Given the description of an element on the screen output the (x, y) to click on. 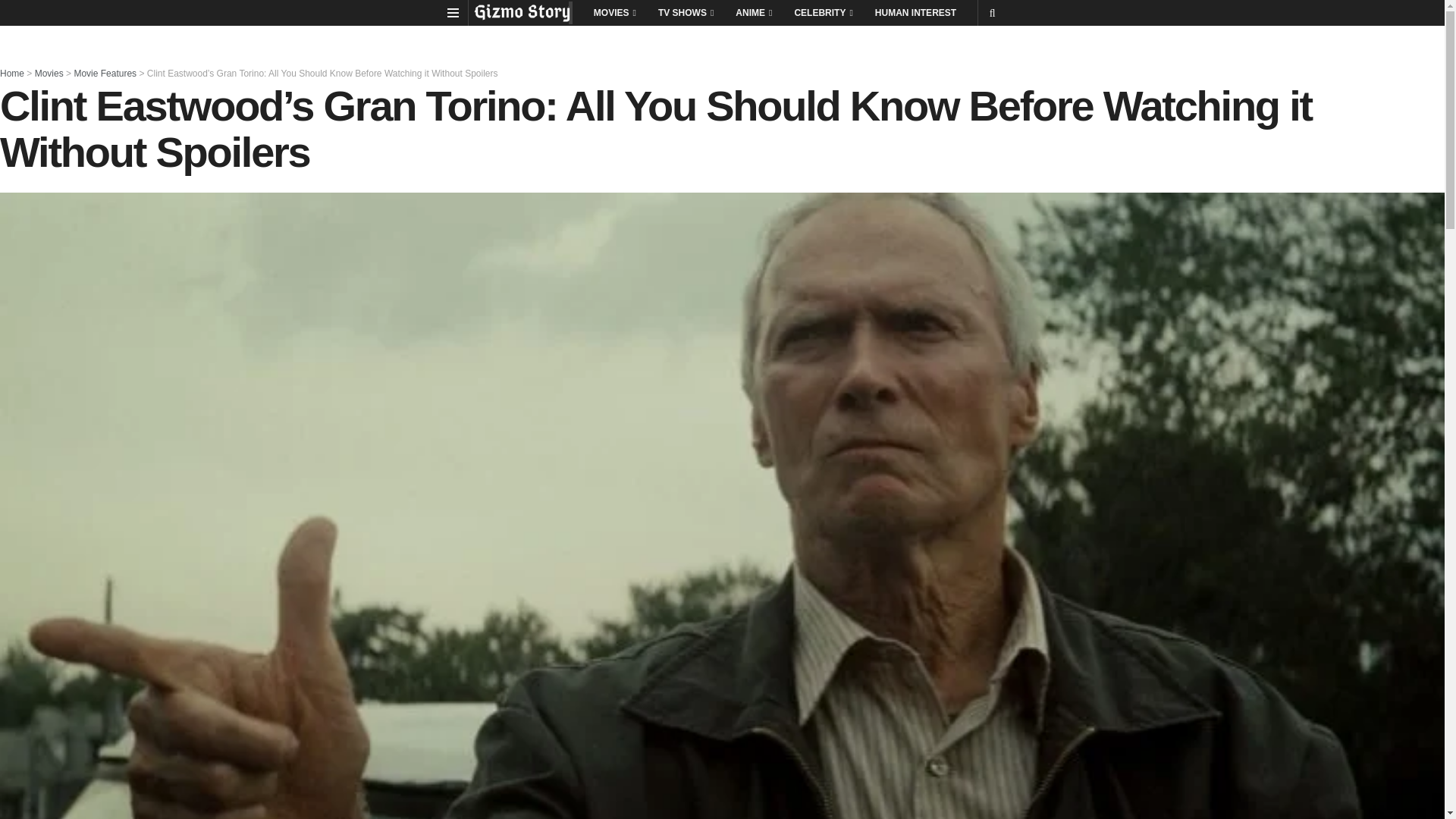
Go to the Movie Features Category archives. (105, 72)
ANIME (752, 12)
CELEBRITY (821, 12)
HUMAN INTEREST (915, 12)
TV SHOWS (684, 12)
Go to the Movies Category archives. (49, 72)
MOVIES (613, 12)
Go to Gizmo Story. (12, 72)
